Given the description of an element on the screen output the (x, y) to click on. 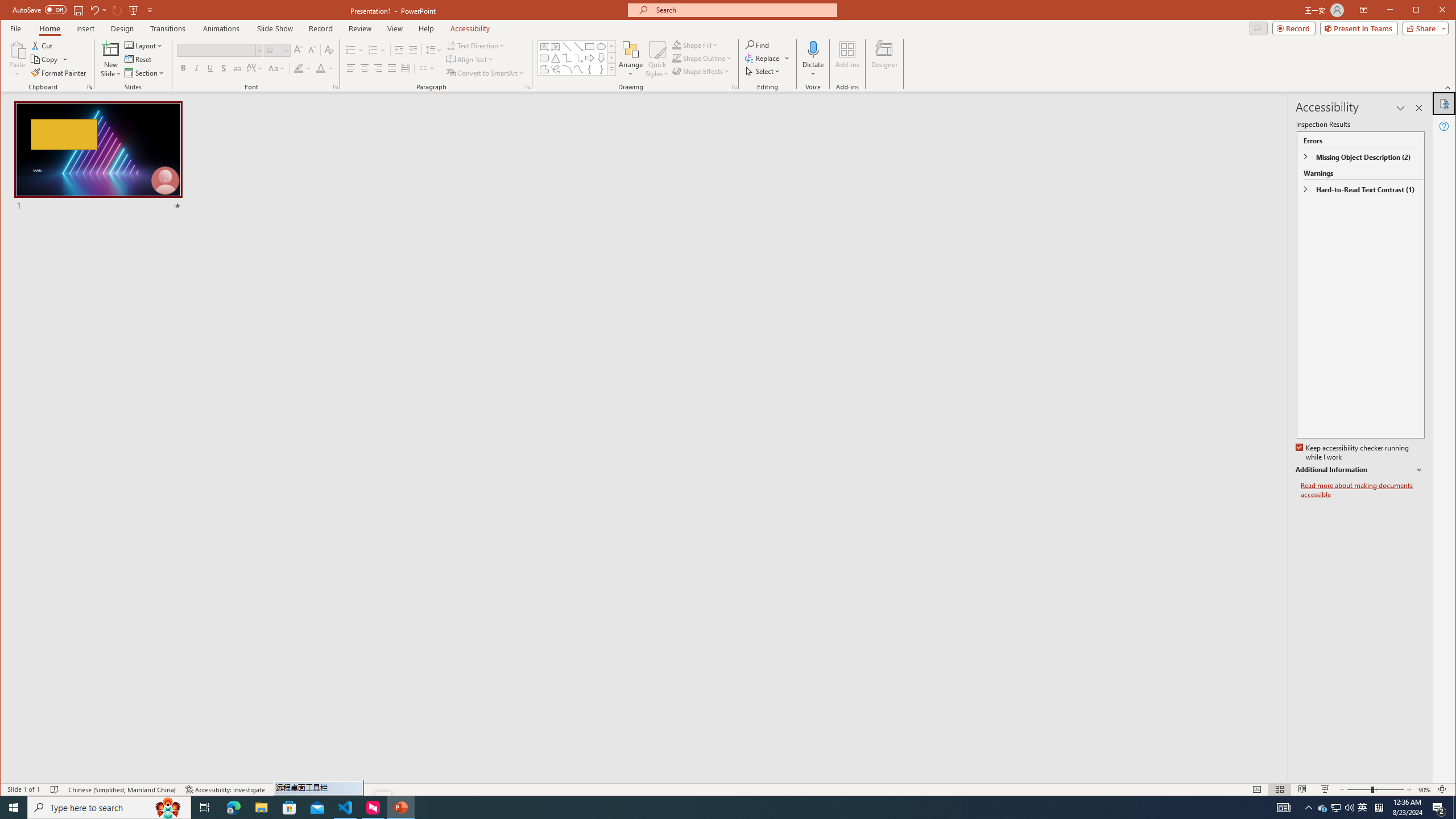
Keep accessibility checker running while I work (1352, 452)
Review (1335, 807)
Home (360, 28)
Record (49, 28)
Customize Quick Access Toolbar (320, 28)
Vertical Text Box (150, 9)
AutoSave (556, 46)
Slide (38, 9)
Italic (1322, 807)
AutomationID: 4105 (98, 157)
Change Case (196, 68)
Select (1283, 807)
